Given the description of an element on the screen output the (x, y) to click on. 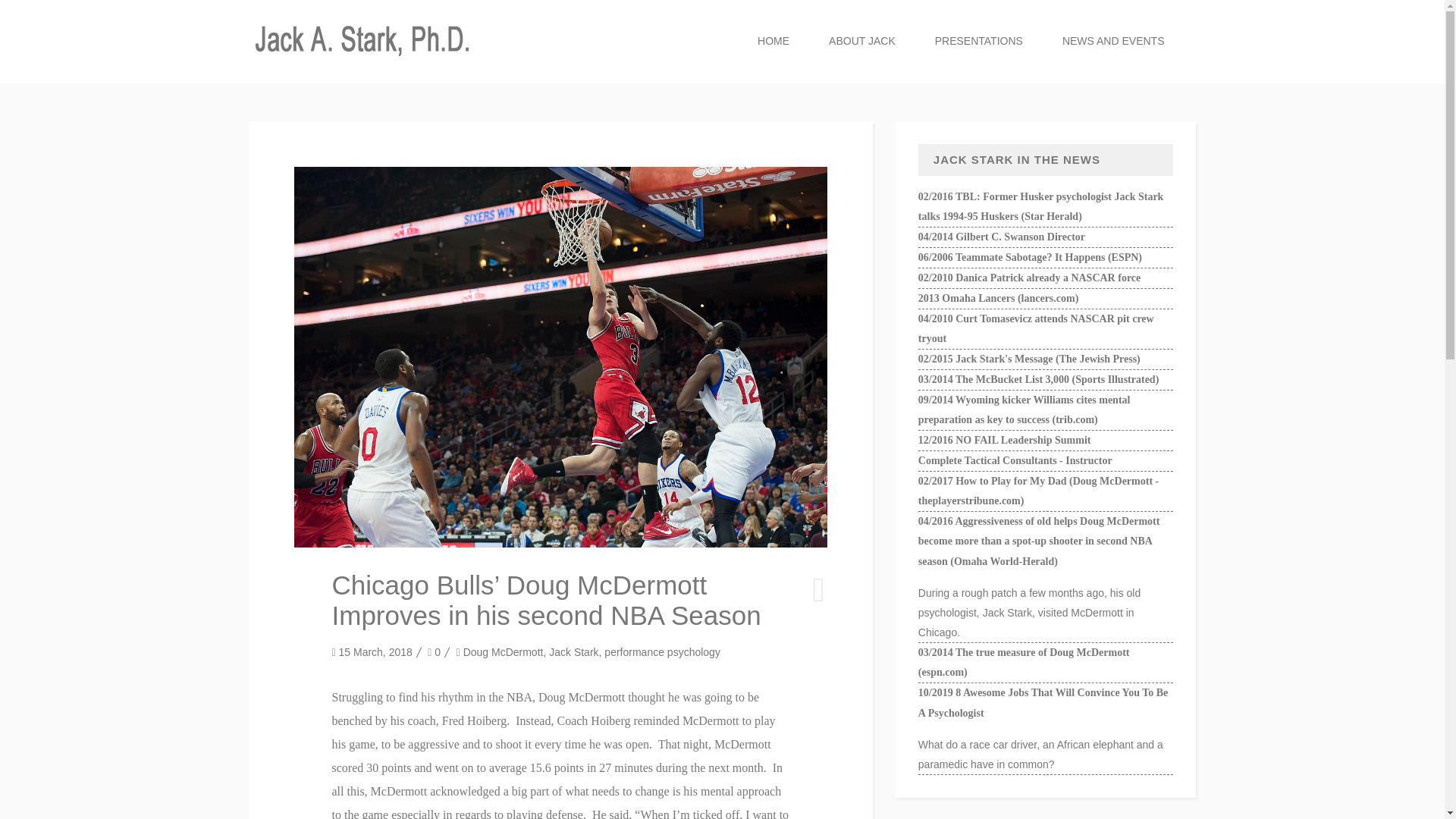
performance psychology (662, 652)
Jack Stark (573, 652)
ABOUT JACK (862, 41)
Complete Tactical Consultants - Instructor (1015, 460)
PRESENTATIONS (978, 41)
NEWS AND EVENTS (1113, 41)
Doug McDermott (503, 652)
